Given the description of an element on the screen output the (x, y) to click on. 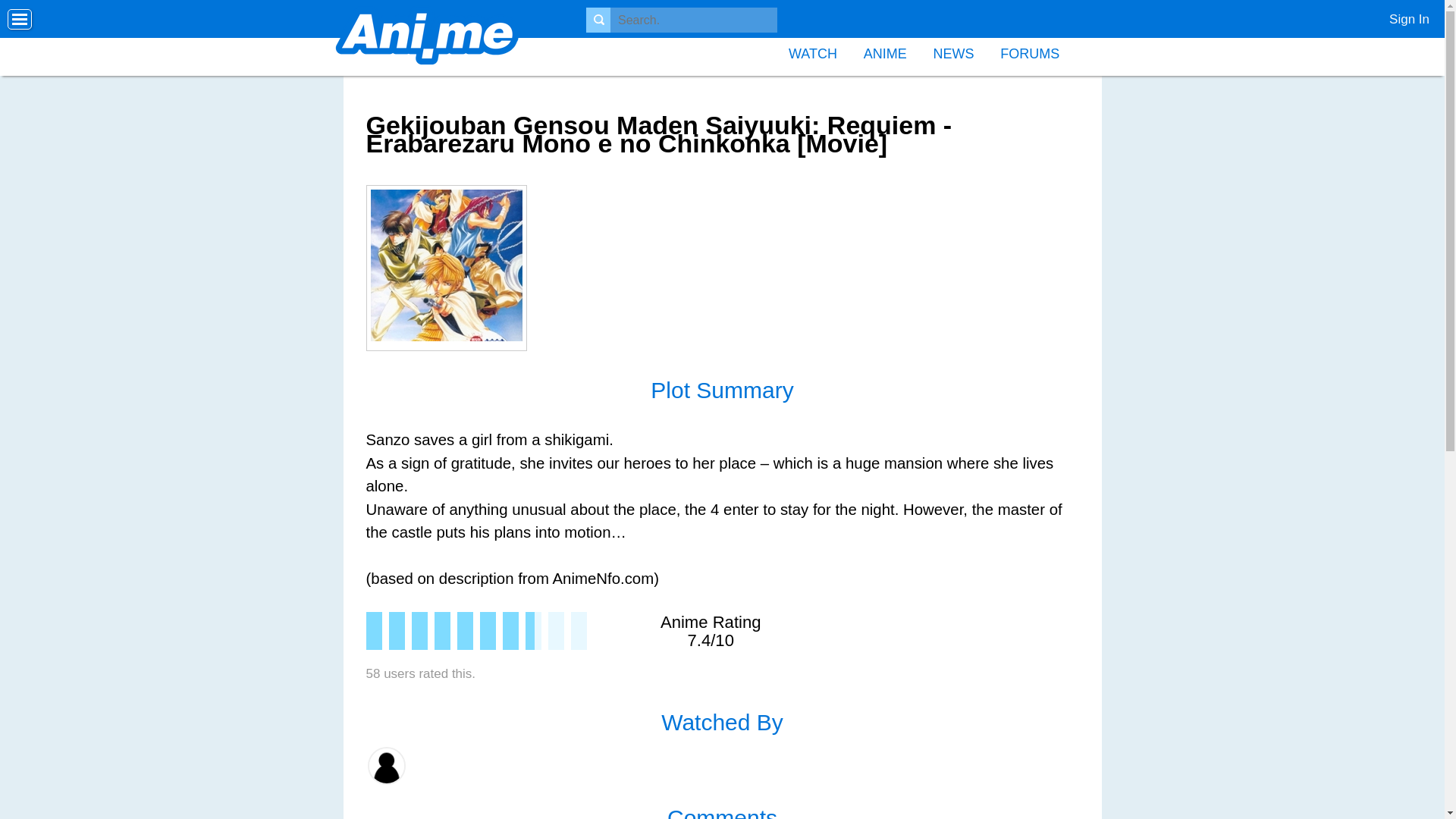
ANIME (884, 52)
Home (427, 38)
Search (28, 12)
NEWS (953, 52)
Sign In (1402, 15)
WATCH (812, 52)
FORUMS (1029, 52)
Options Menu (19, 19)
